Given the description of an element on the screen output the (x, y) to click on. 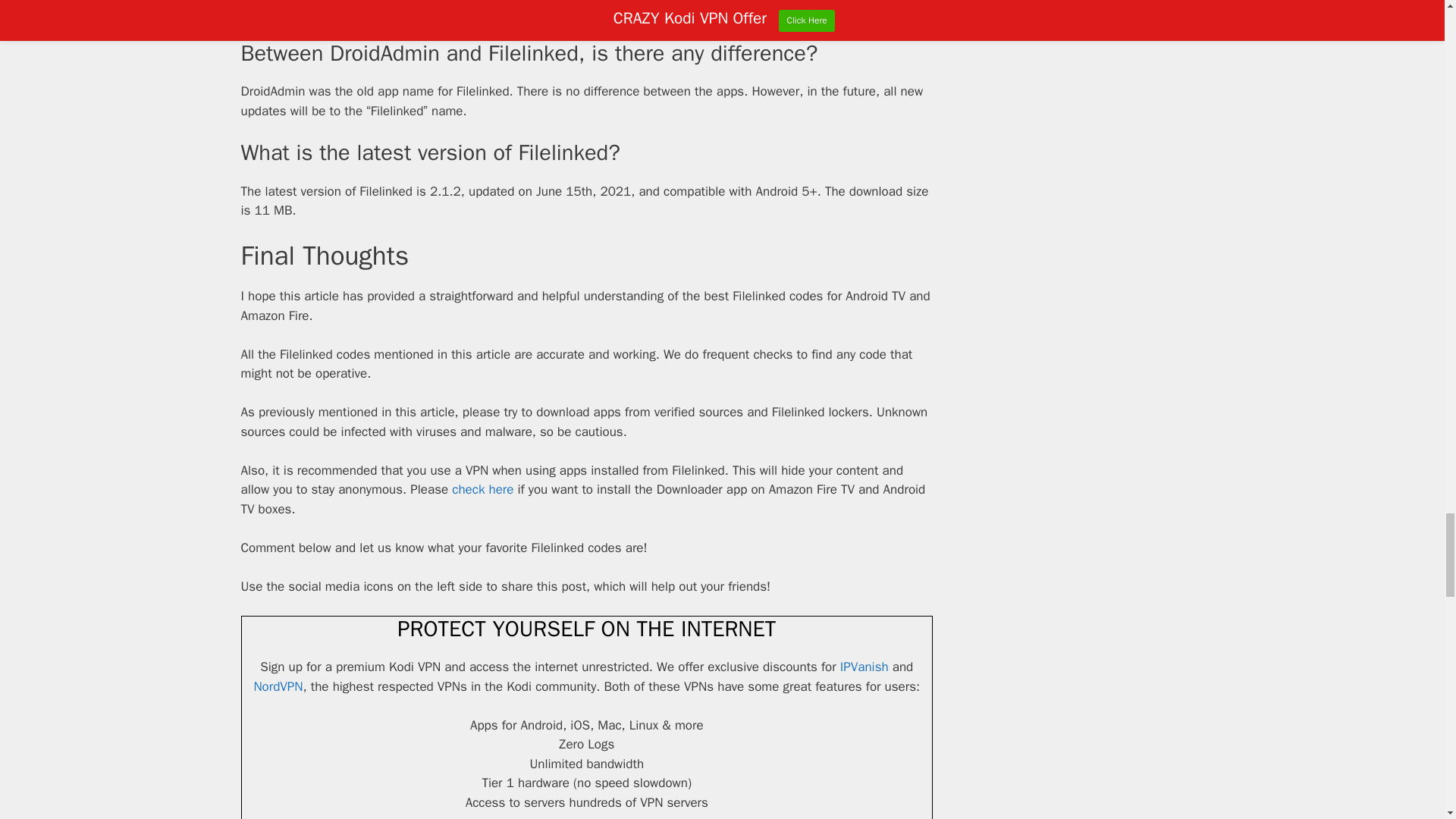
IPVanish (864, 666)
check here (482, 489)
NordVPN (277, 686)
